Given the description of an element on the screen output the (x, y) to click on. 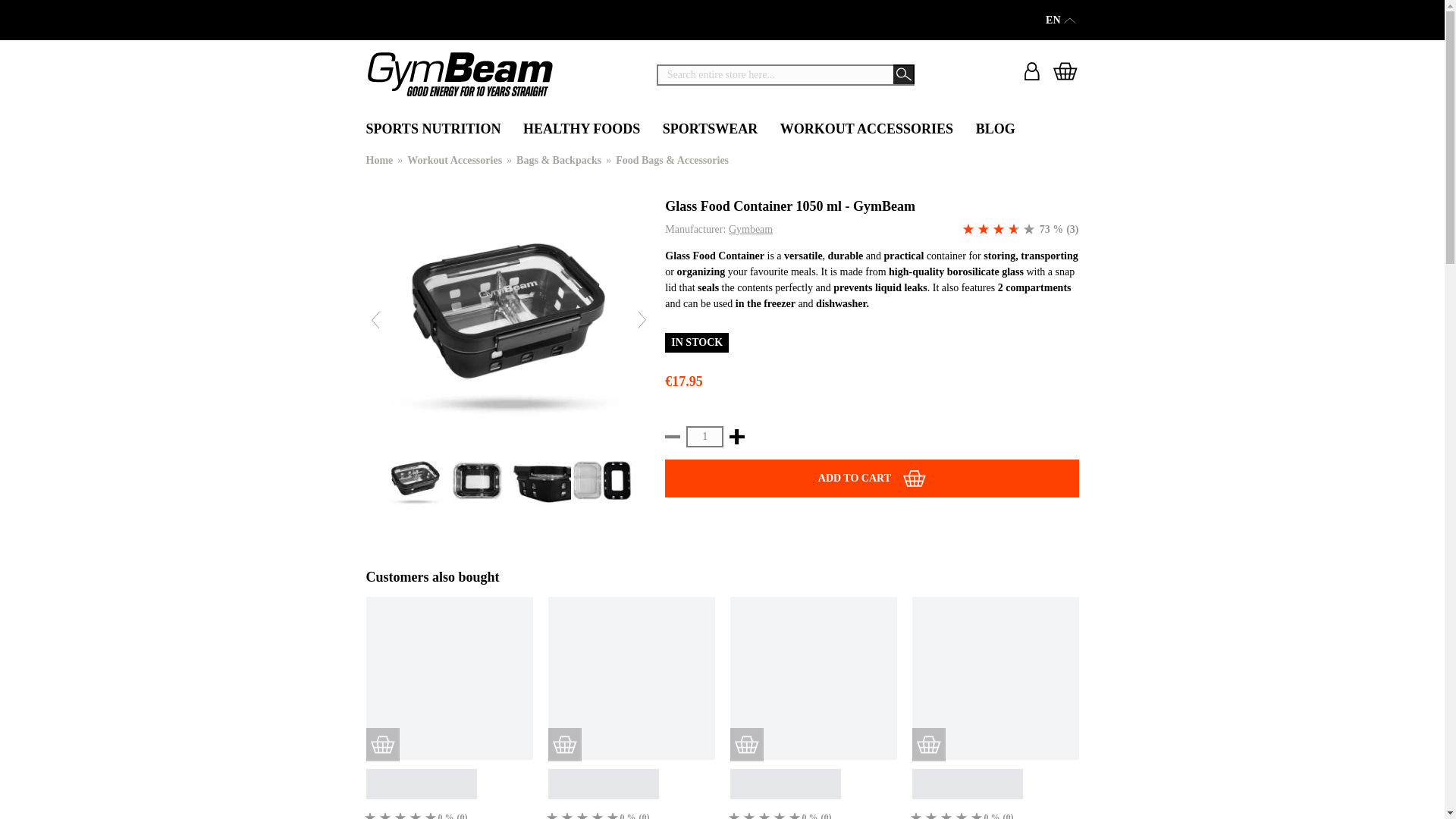
Add to Cart (871, 478)
Add to Cart (927, 744)
Add to Cart (563, 744)
SPORTS NUTRITION (432, 129)
GymBeam s.r.o. (459, 73)
Add to Cart (381, 744)
1 (704, 436)
Add to Cart (745, 744)
0 (369, 813)
